Given the description of an element on the screen output the (x, y) to click on. 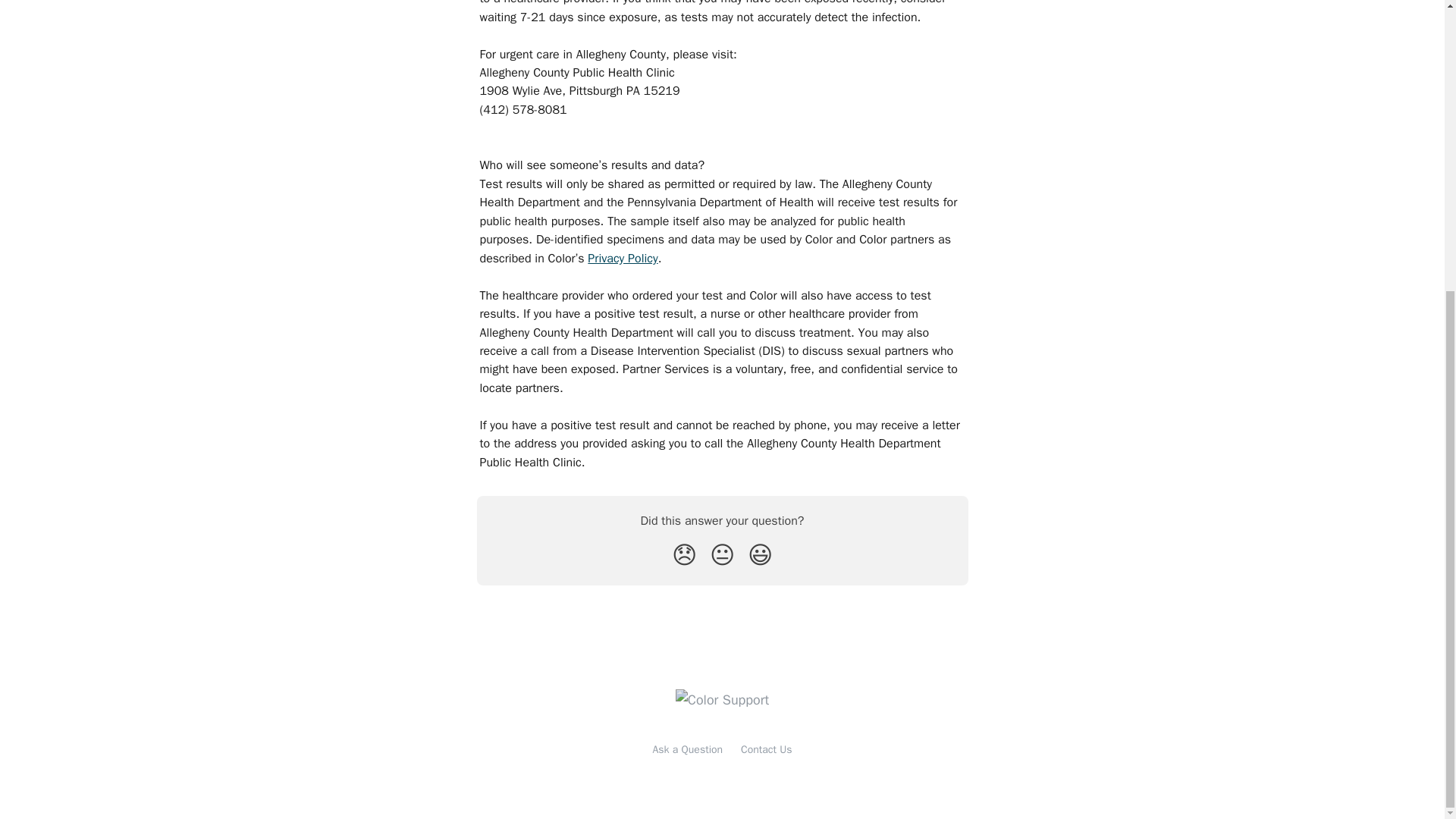
Ask a Question (687, 748)
Privacy Policy (623, 258)
Contact Us (766, 748)
